Given the description of an element on the screen output the (x, y) to click on. 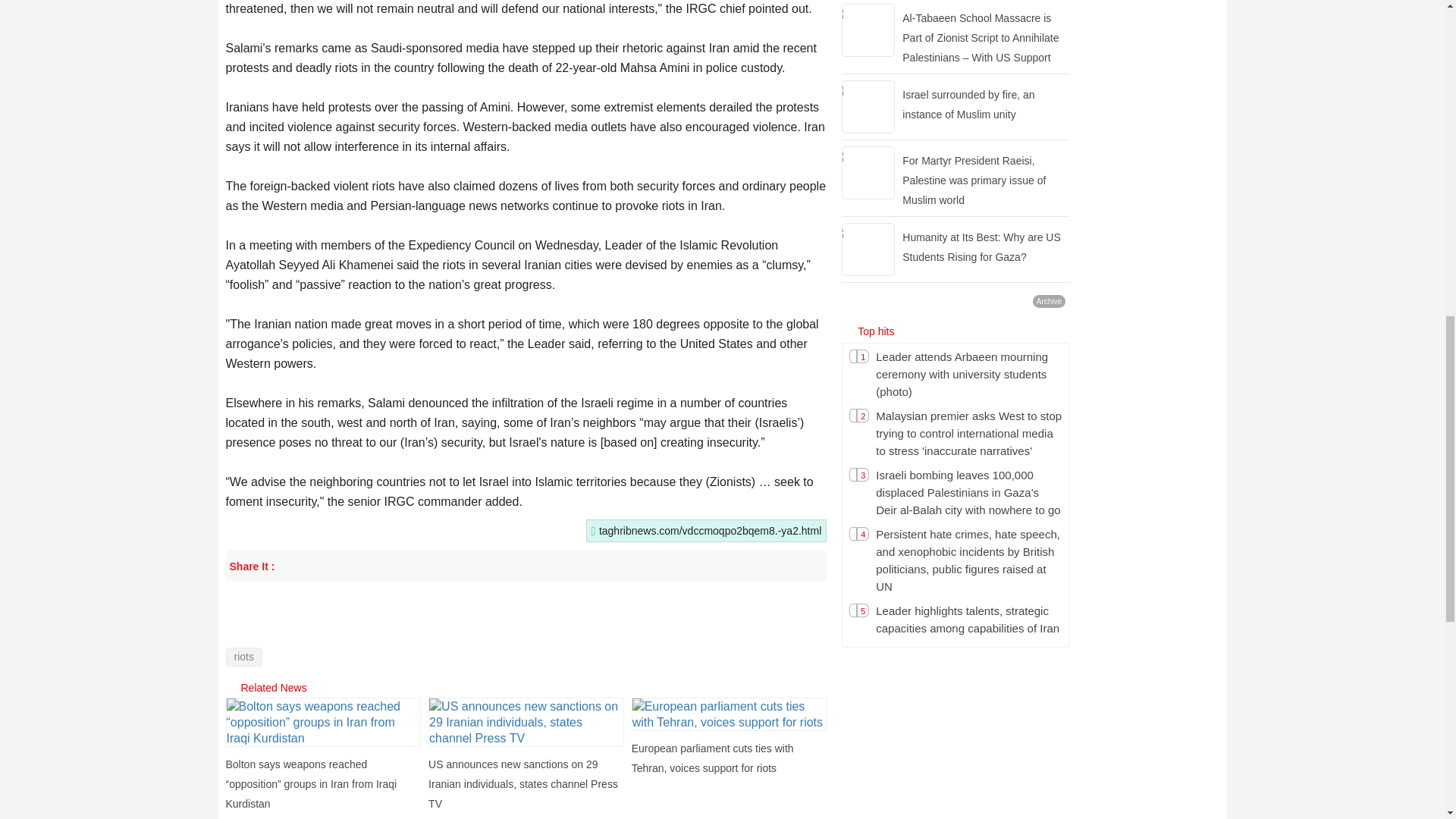
Downloading the File (764, 566)
Print Edition (809, 566)
Send to a Friend (716, 566)
